Given the description of an element on the screen output the (x, y) to click on. 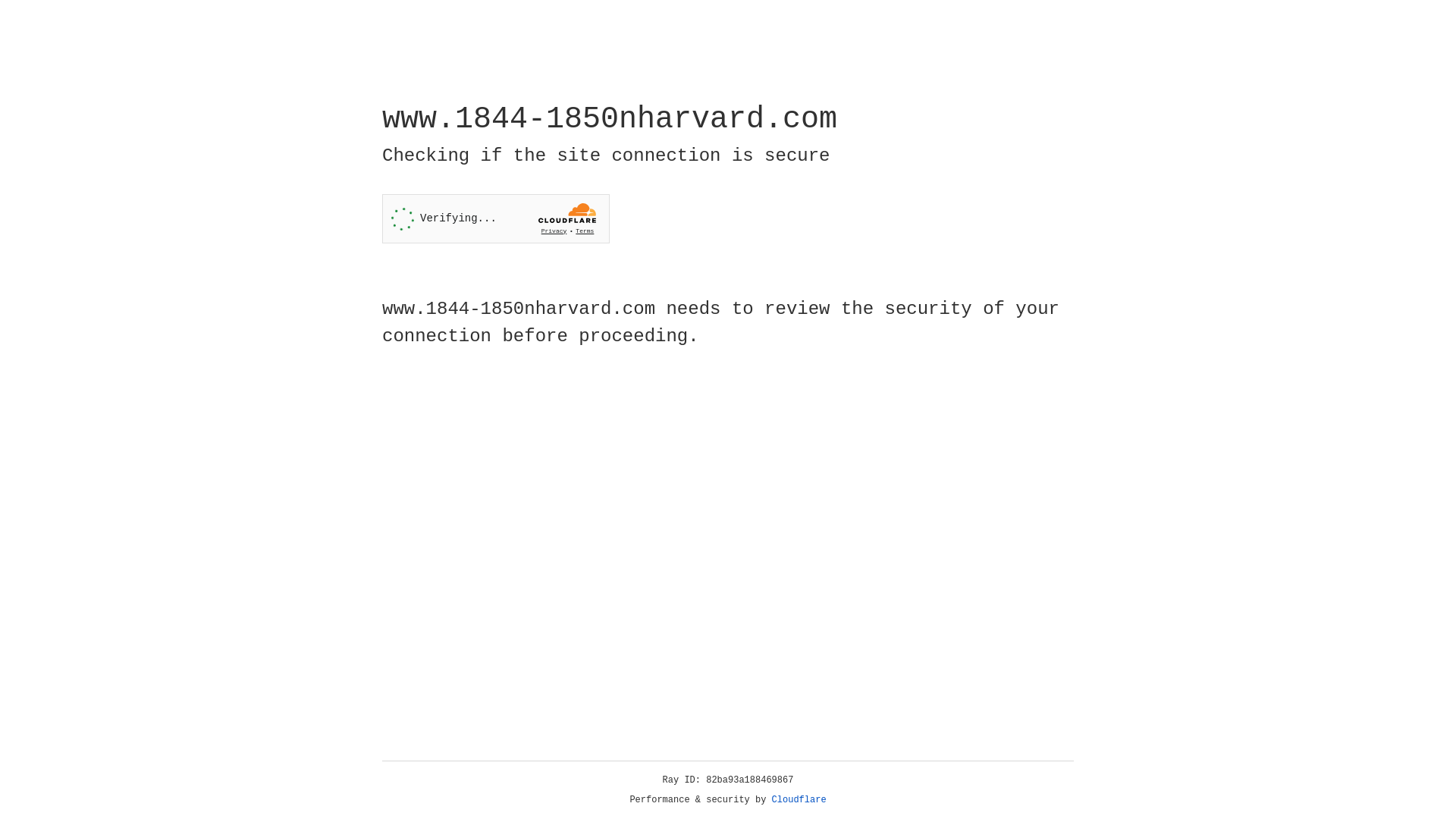
Widget containing a Cloudflare security challenge Element type: hover (495, 218)
Cloudflare Element type: text (798, 799)
